Given the description of an element on the screen output the (x, y) to click on. 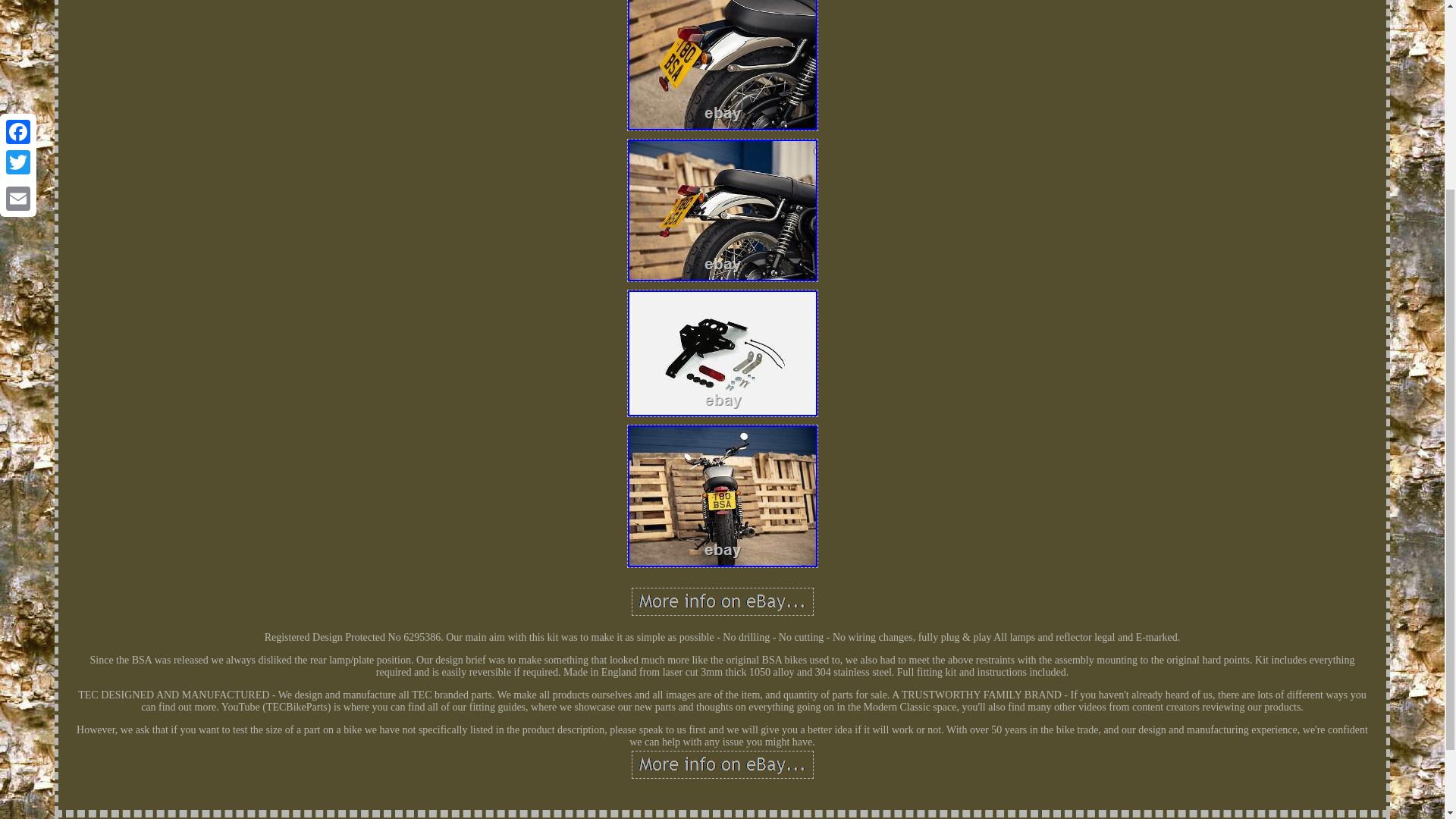
TEC Tail Tidy Kit BSA Goldstar (721, 65)
TEC Tail Tidy Kit BSA Goldstar (721, 352)
TEC Tail Tidy Kit BSA Goldstar (721, 764)
TEC Tail Tidy Kit BSA Goldstar (721, 601)
TEC Tail Tidy Kit BSA Goldstar (721, 209)
TEC Tail Tidy Kit BSA Goldstar (721, 496)
